Given the description of an element on the screen output the (x, y) to click on. 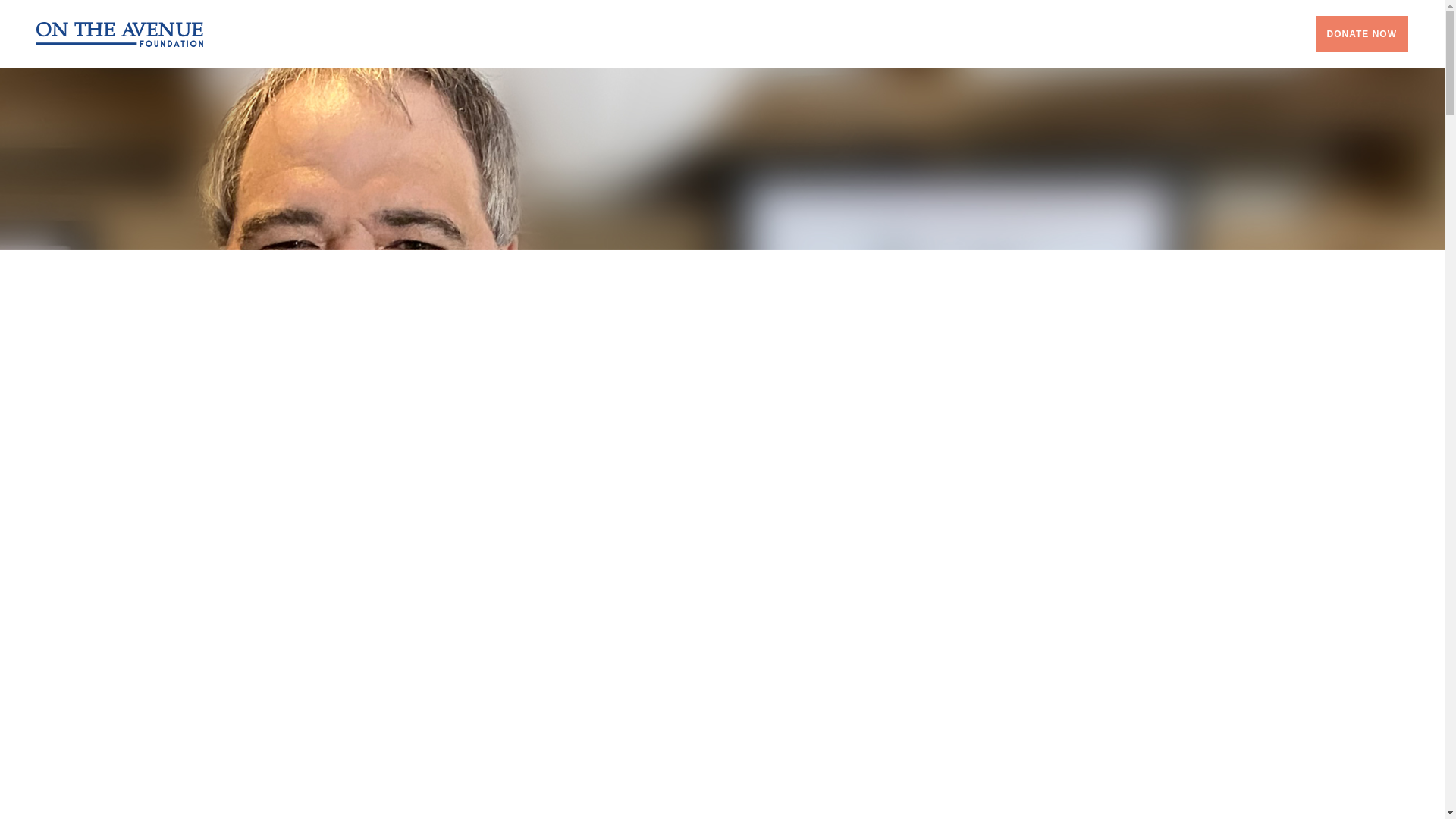
DONATE NOW (1361, 33)
On the Avenue Foundation (119, 33)
